Given the description of an element on the screen output the (x, y) to click on. 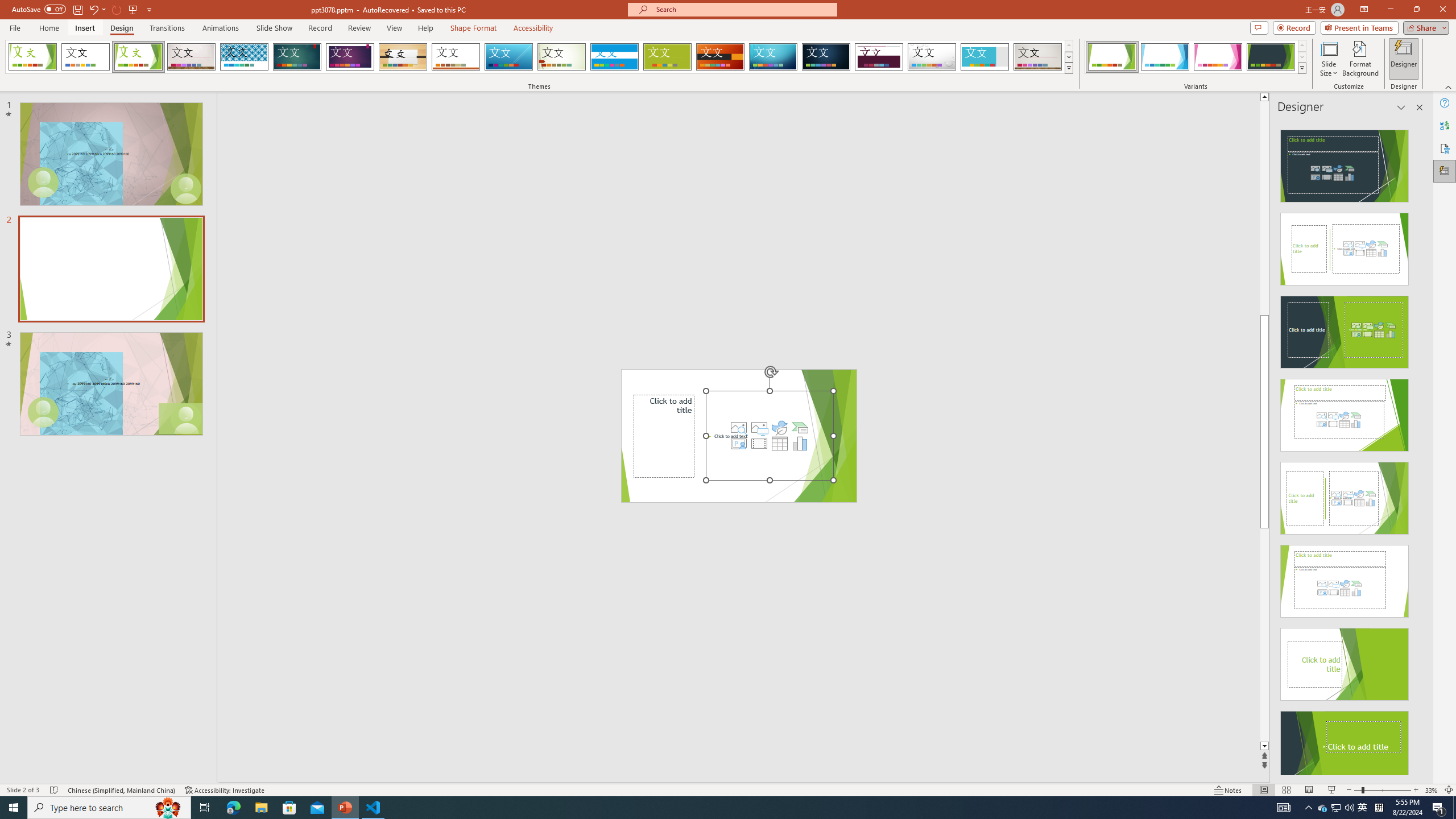
Facet Variant 3 (1217, 56)
Insert a SmartArt Graphic (799, 427)
Organic (403, 56)
Insert Table (779, 443)
Office Theme (85, 56)
Slice (508, 56)
Banded (614, 56)
